Given the description of an element on the screen output the (x, y) to click on. 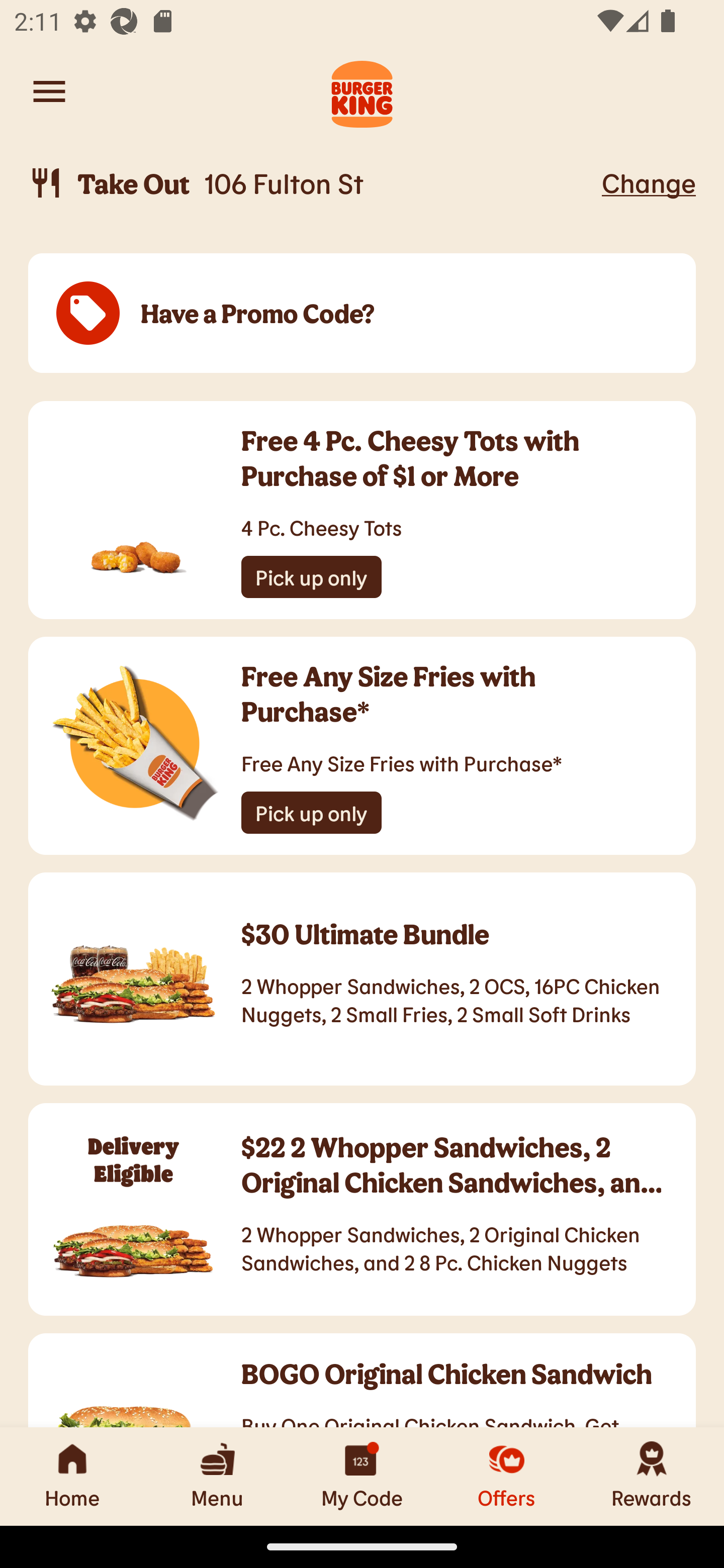
Burger King Logo. Navigate to Home (362, 91)
Navigate to account menu  (49, 91)
Take Out, 106 Fulton St  Take Out 106 Fulton St (311, 183)
Change (648, 182)
Have a Promo Code?  Have a Promo Code? (361, 313)
Home (72, 1475)
Menu (216, 1475)
My Code (361, 1475)
Offers (506, 1475)
Rewards (651, 1475)
